Given the description of an element on the screen output the (x, y) to click on. 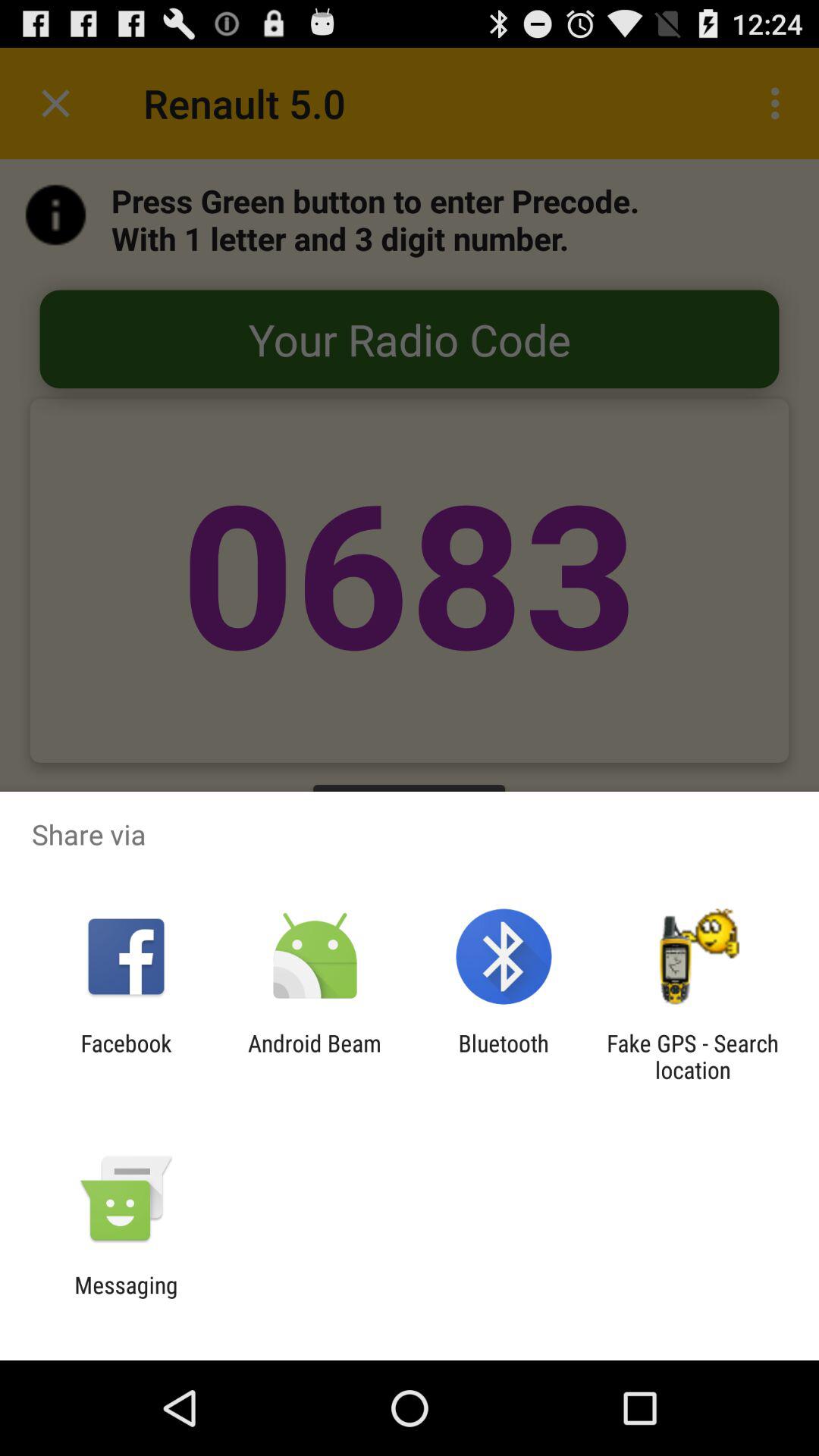
press the android beam (314, 1056)
